Given the description of an element on the screen output the (x, y) to click on. 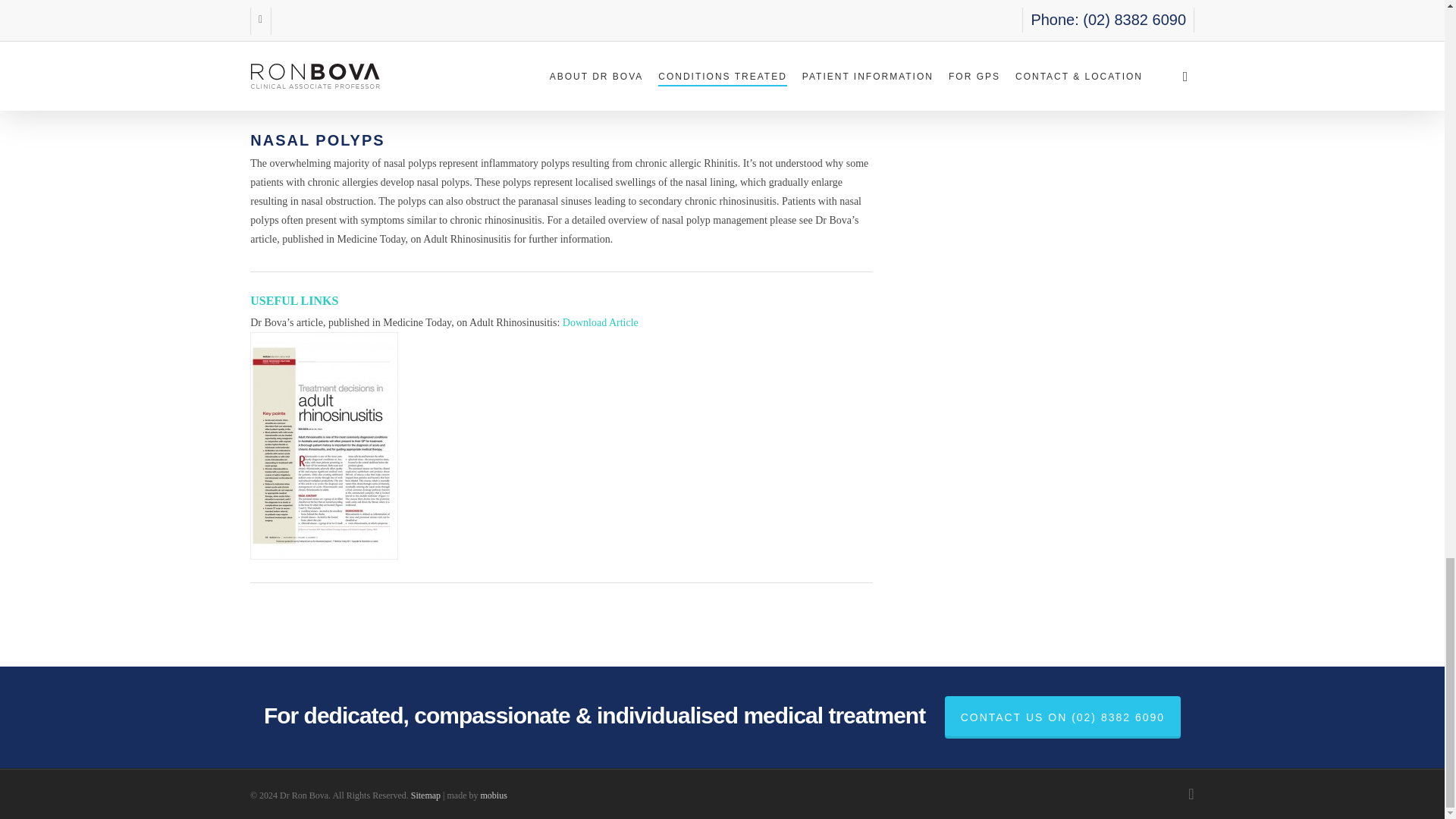
linkedin (1190, 793)
Download Article (600, 322)
mobius (493, 795)
Sitemap (425, 795)
